Given the description of an element on the screen output the (x, y) to click on. 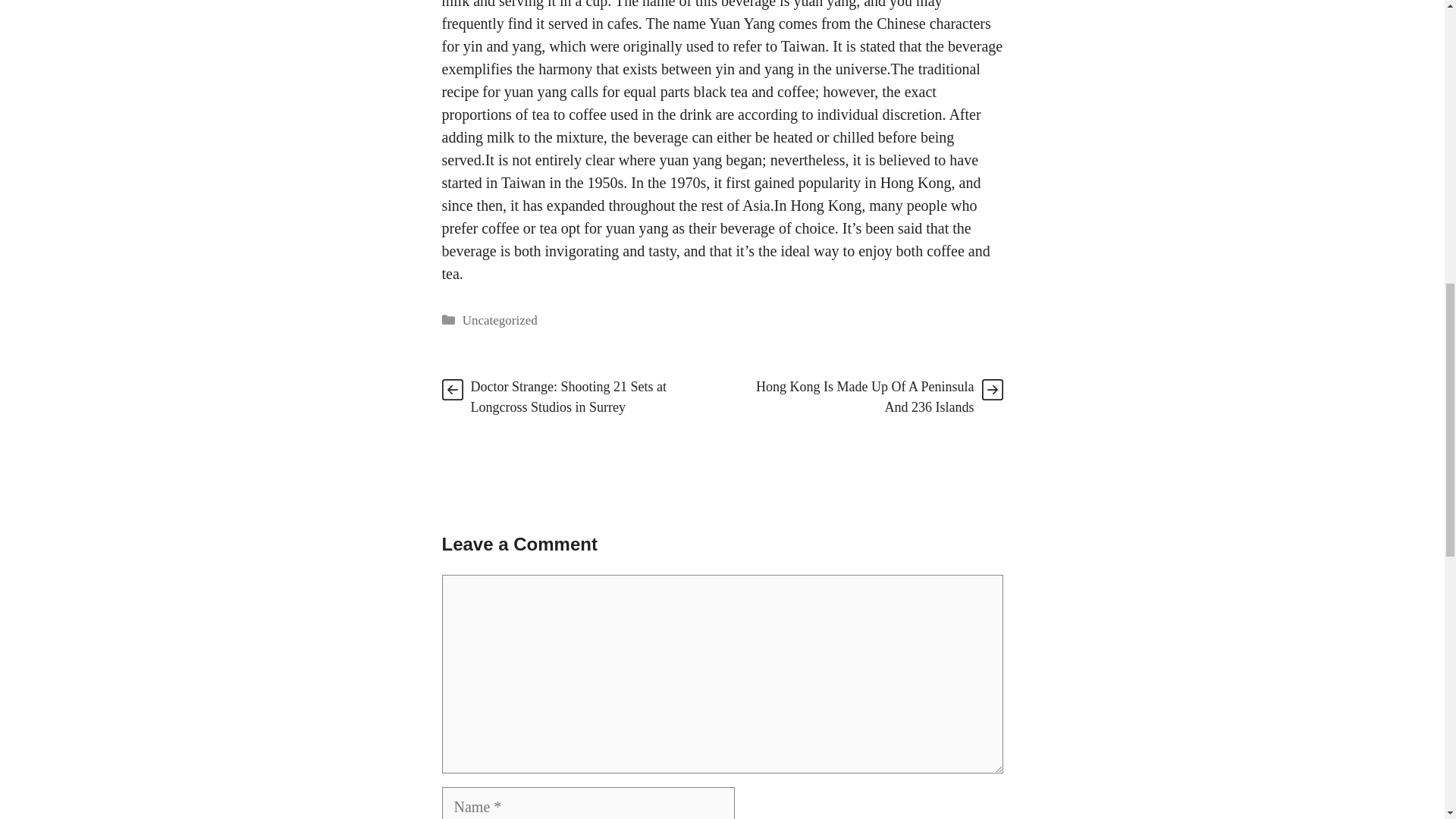
Hong Kong Is Made Up Of A Peninsula And 236 Islands (864, 396)
